Given the description of an element on the screen output the (x, y) to click on. 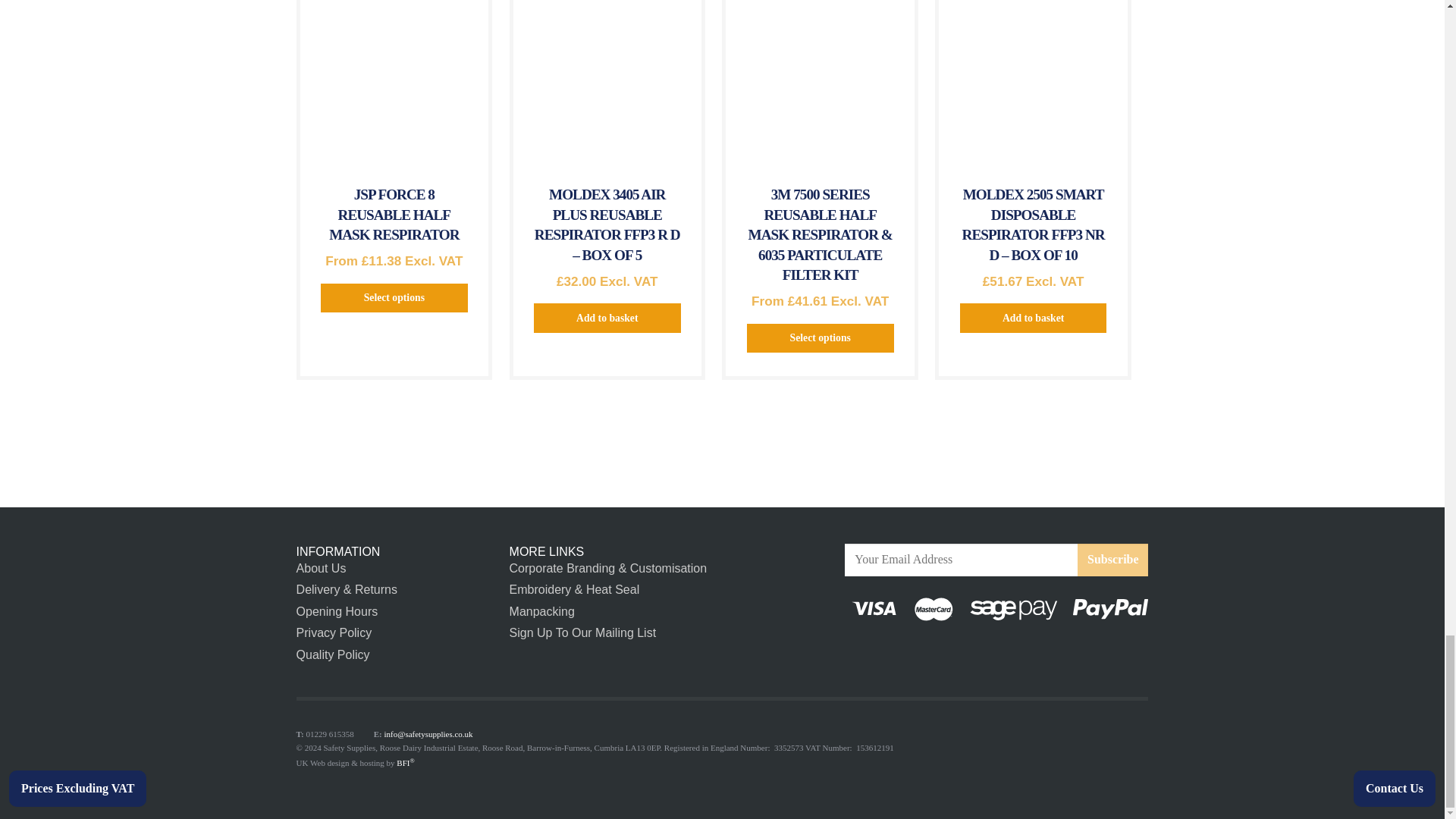
BFI (404, 762)
Our Facebook page (1066, 650)
Our YouTube page (1136, 650)
Our Twitter page (1101, 650)
